Given the description of an element on the screen output the (x, y) to click on. 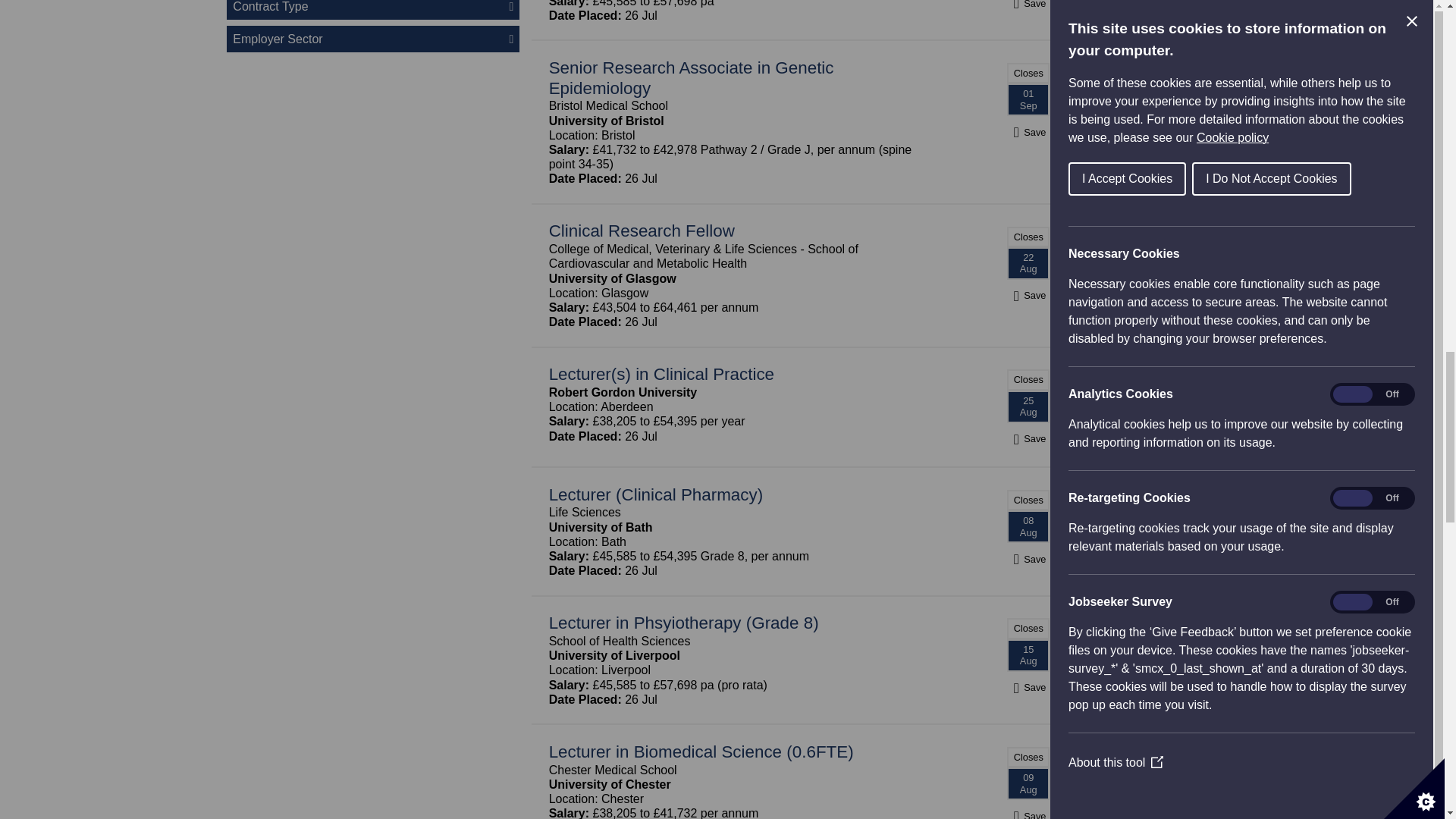
Save job (1027, 559)
Save job (1027, 294)
Save job (1027, 3)
Save job (1027, 131)
Save job (1027, 438)
Save job (1027, 687)
